Given the description of an element on the screen output the (x, y) to click on. 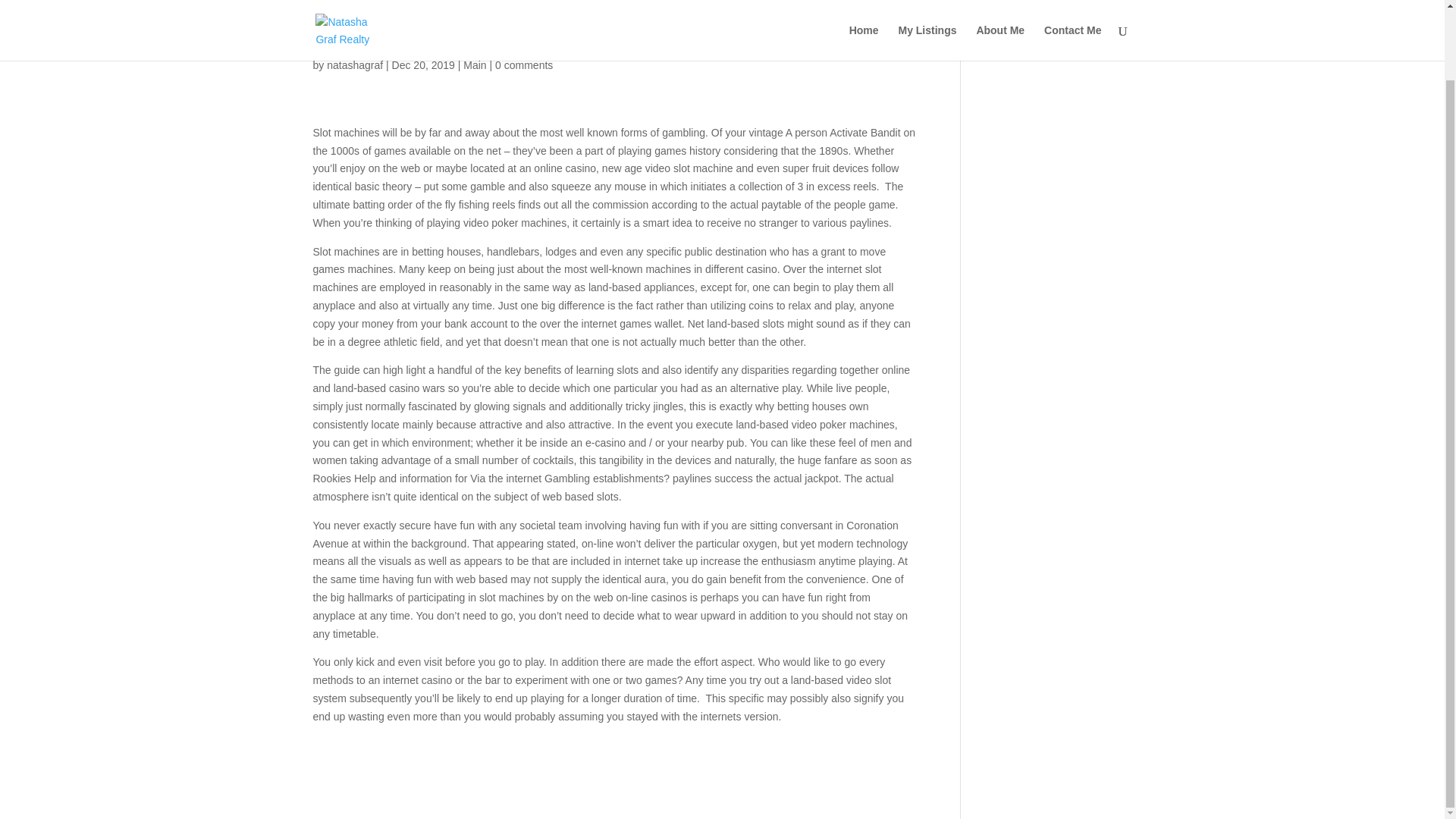
Main (474, 64)
Posts by natashagraf (354, 64)
natashagraf (354, 64)
0 comments (524, 64)
